Given the description of an element on the screen output the (x, y) to click on. 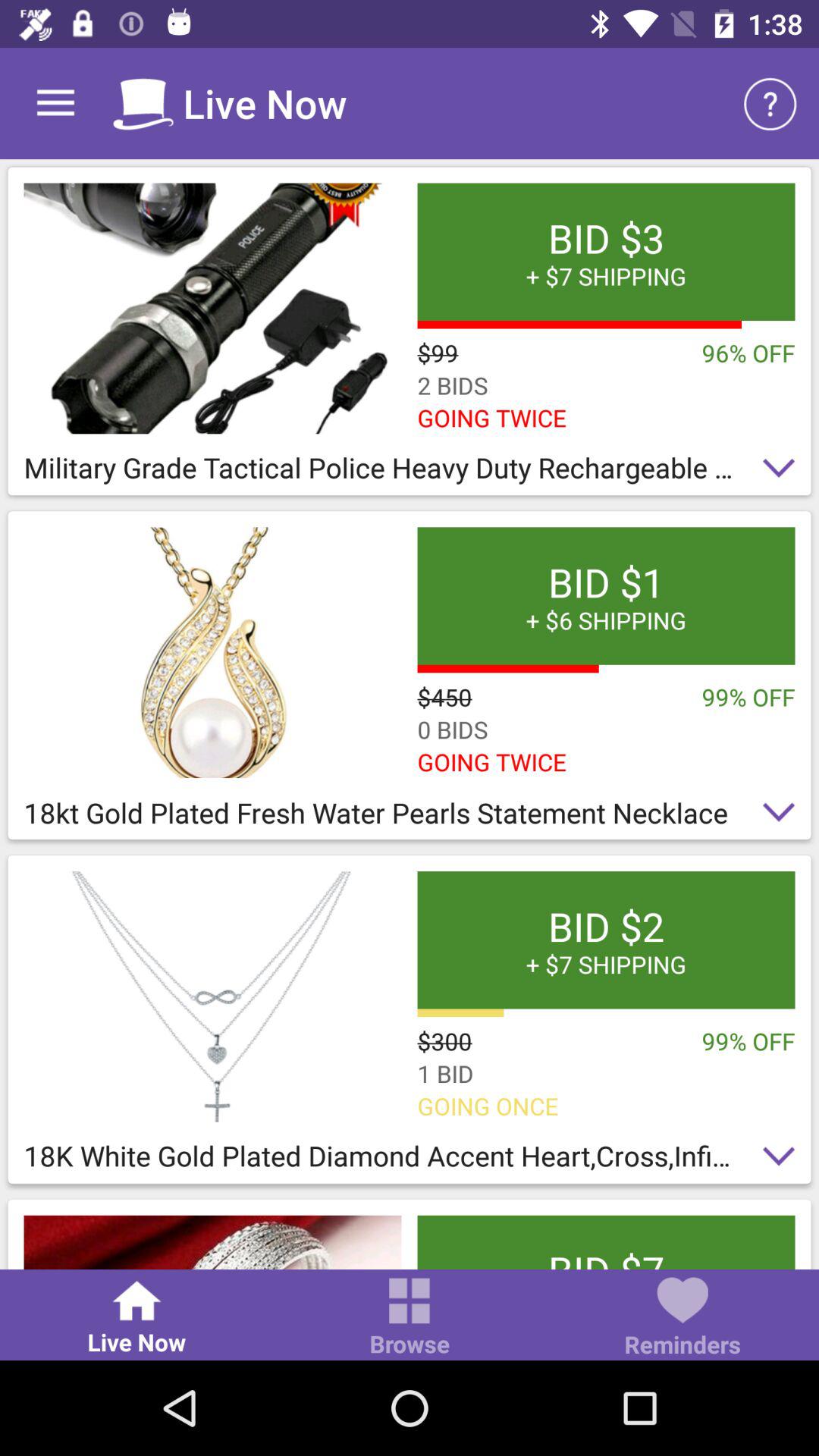
click the 18k white gold item (409, 1160)
